Given the description of an element on the screen output the (x, y) to click on. 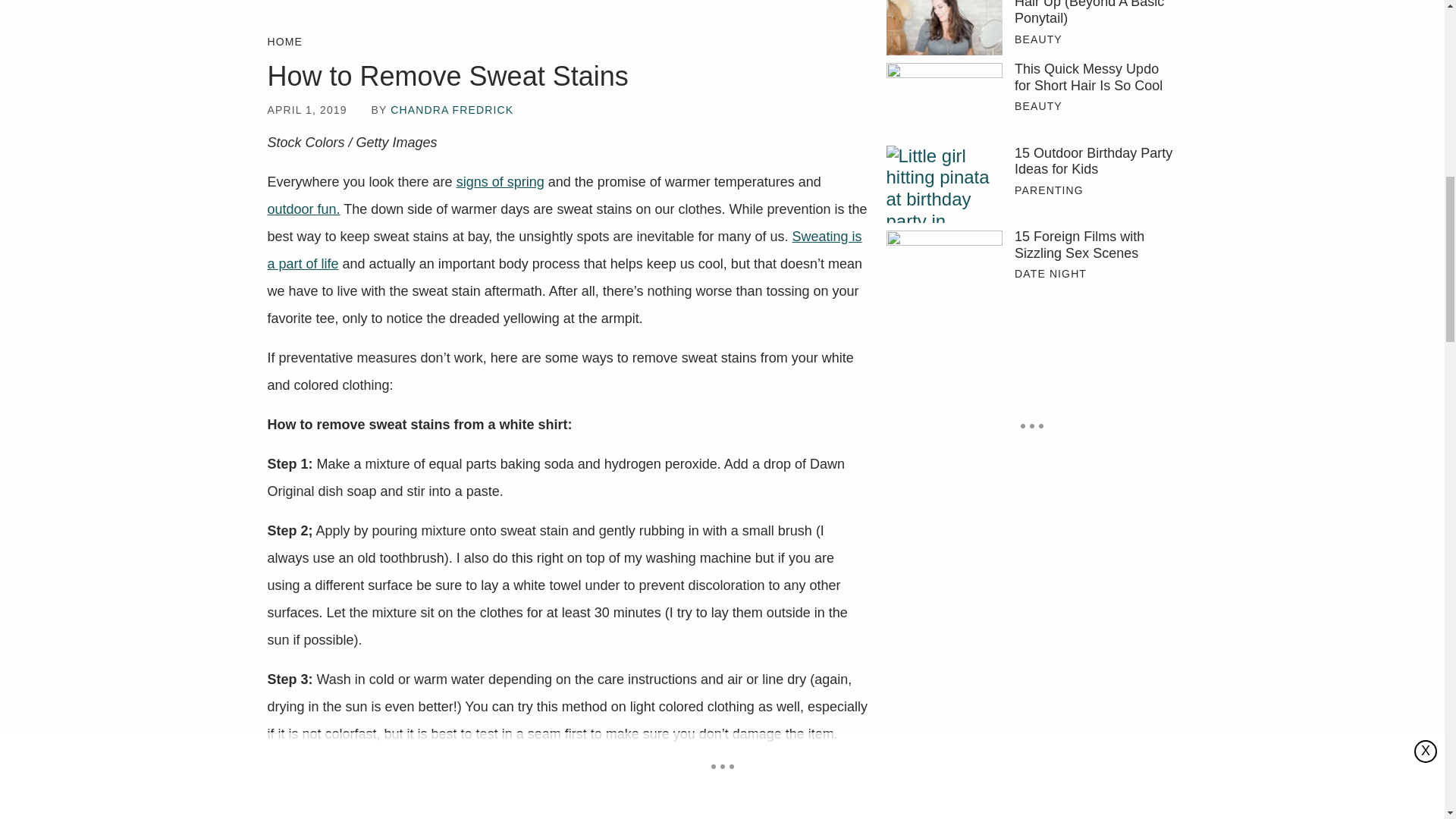
outdoor fun. (302, 209)
15 Foreign Films with Sizzling Sex Scenes (1095, 245)
This Quick Messy Updo for Short Hair Is So Cool (1095, 77)
15 Foreign Films with Sizzling Sex Scenes (944, 267)
HOME (283, 42)
Sweating is a part of life (563, 250)
signs of spring (500, 181)
15 Outdoor Birthday Party Ideas for Kids (944, 183)
15 Outdoor Birthday Party Ideas for Kids (1095, 161)
This Quick Messy Updo for Short Hair Is So Cool (944, 99)
